Given the description of an element on the screen output the (x, y) to click on. 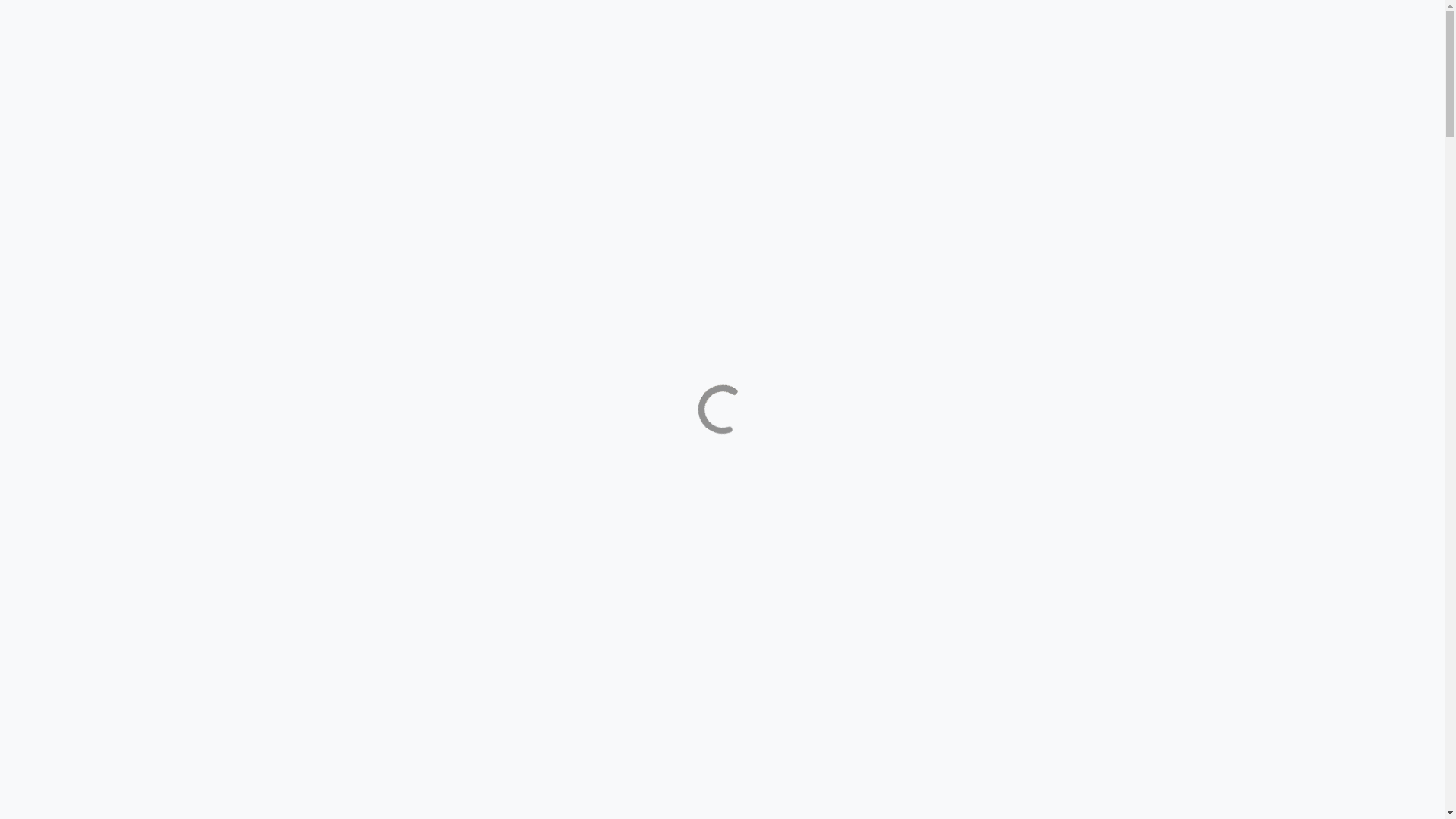
info@milonda.by Element type: text (48, 66)
